Given the description of an element on the screen output the (x, y) to click on. 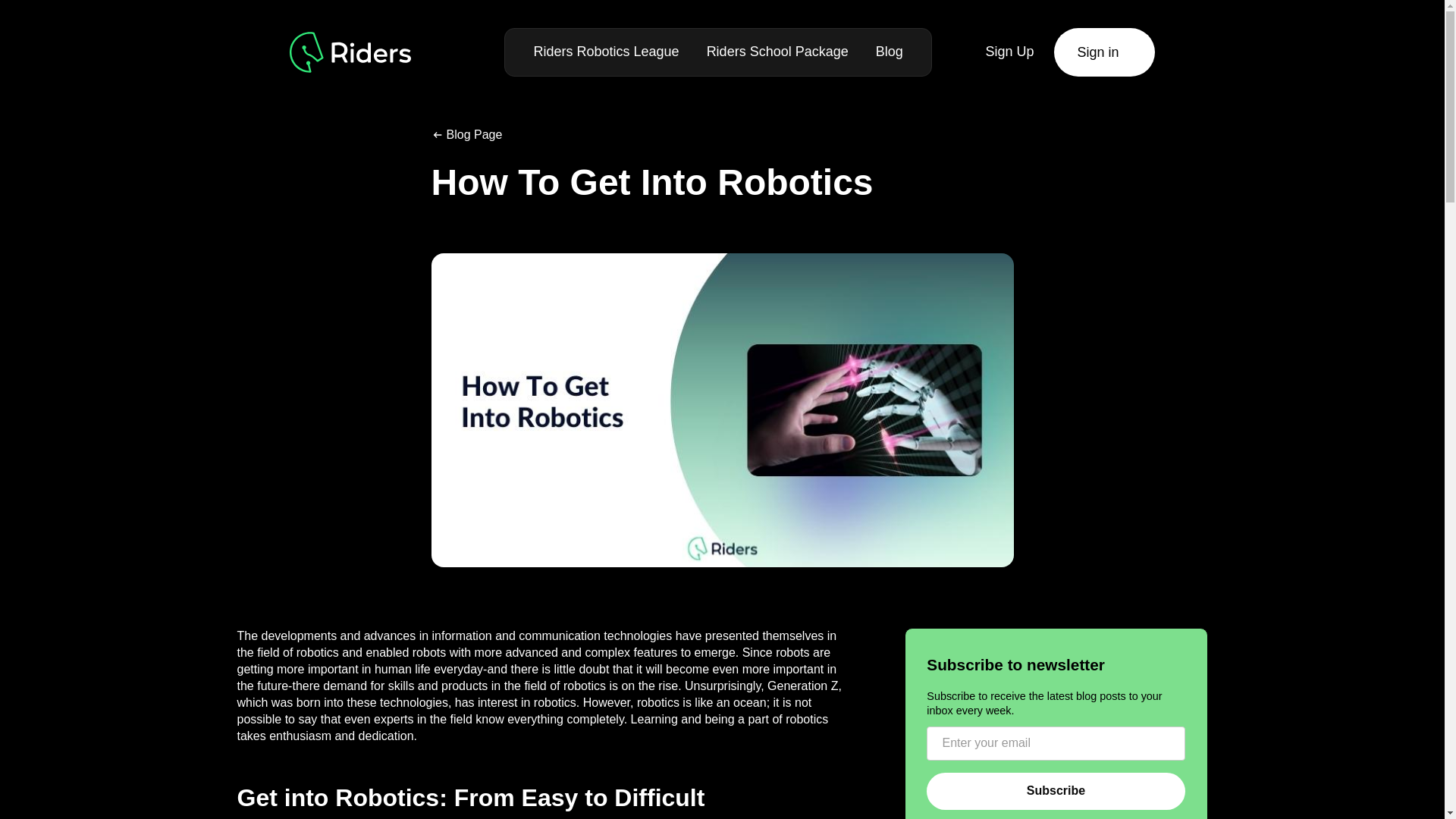
Riders School Package (777, 52)
Riders Robotics League (606, 52)
Sign Up (1009, 52)
Blog Page (466, 134)
Blog (889, 52)
Sign in (1104, 51)
Subscribe (1055, 791)
